Given the description of an element on the screen output the (x, y) to click on. 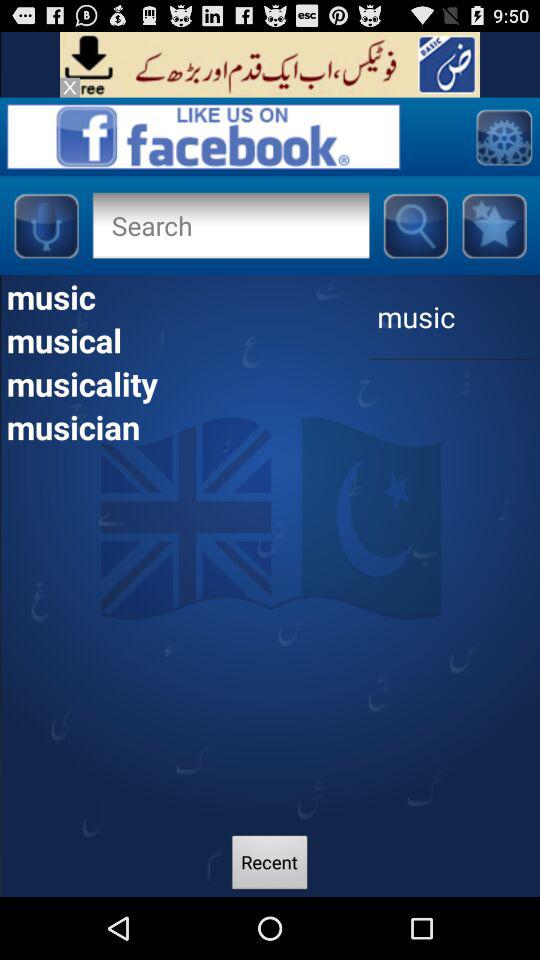
favorite page (493, 225)
